Given the description of an element on the screen output the (x, y) to click on. 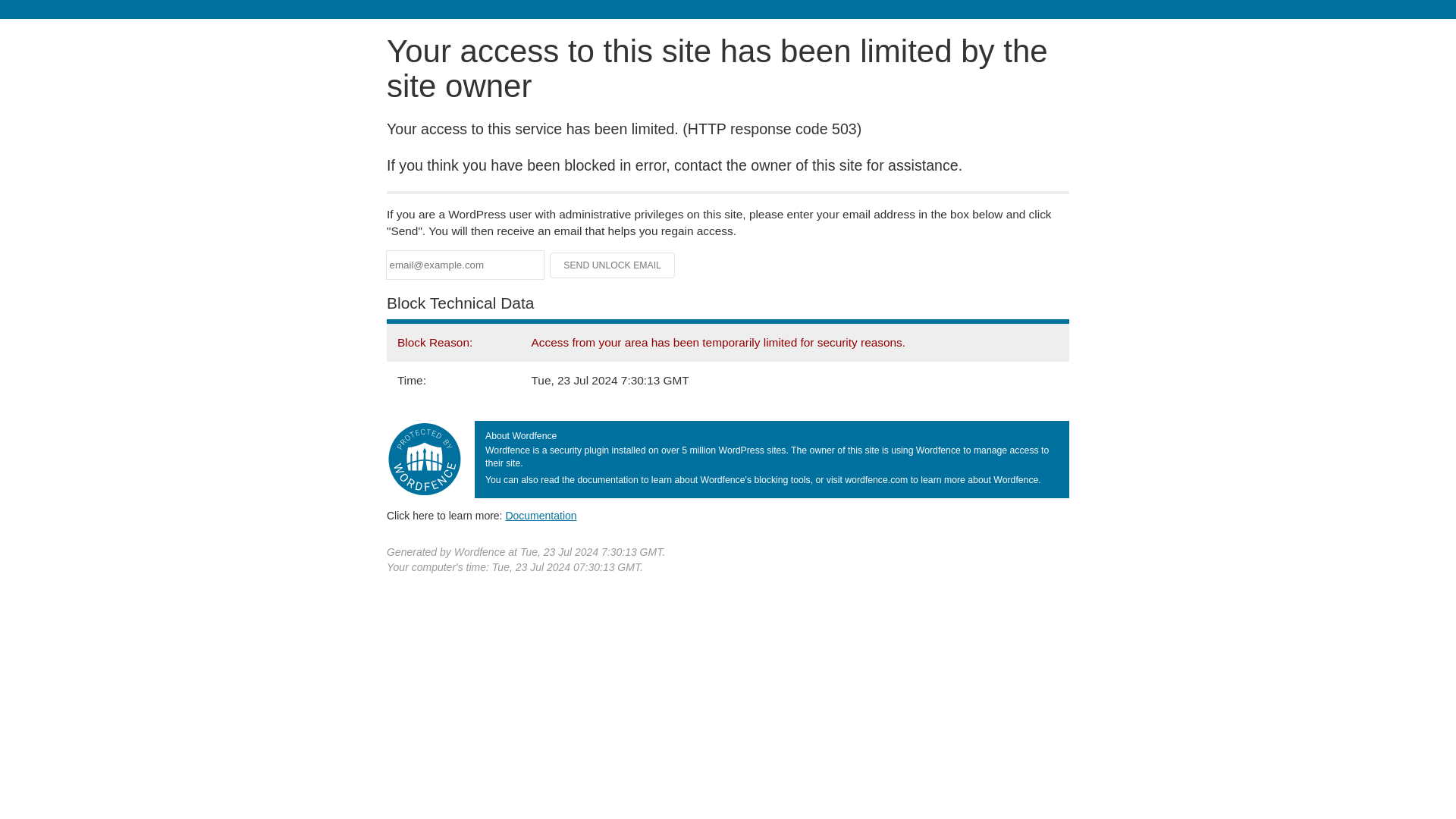
Documentation (540, 515)
Send Unlock Email (612, 265)
Send Unlock Email (612, 265)
